Given the description of an element on the screen output the (x, y) to click on. 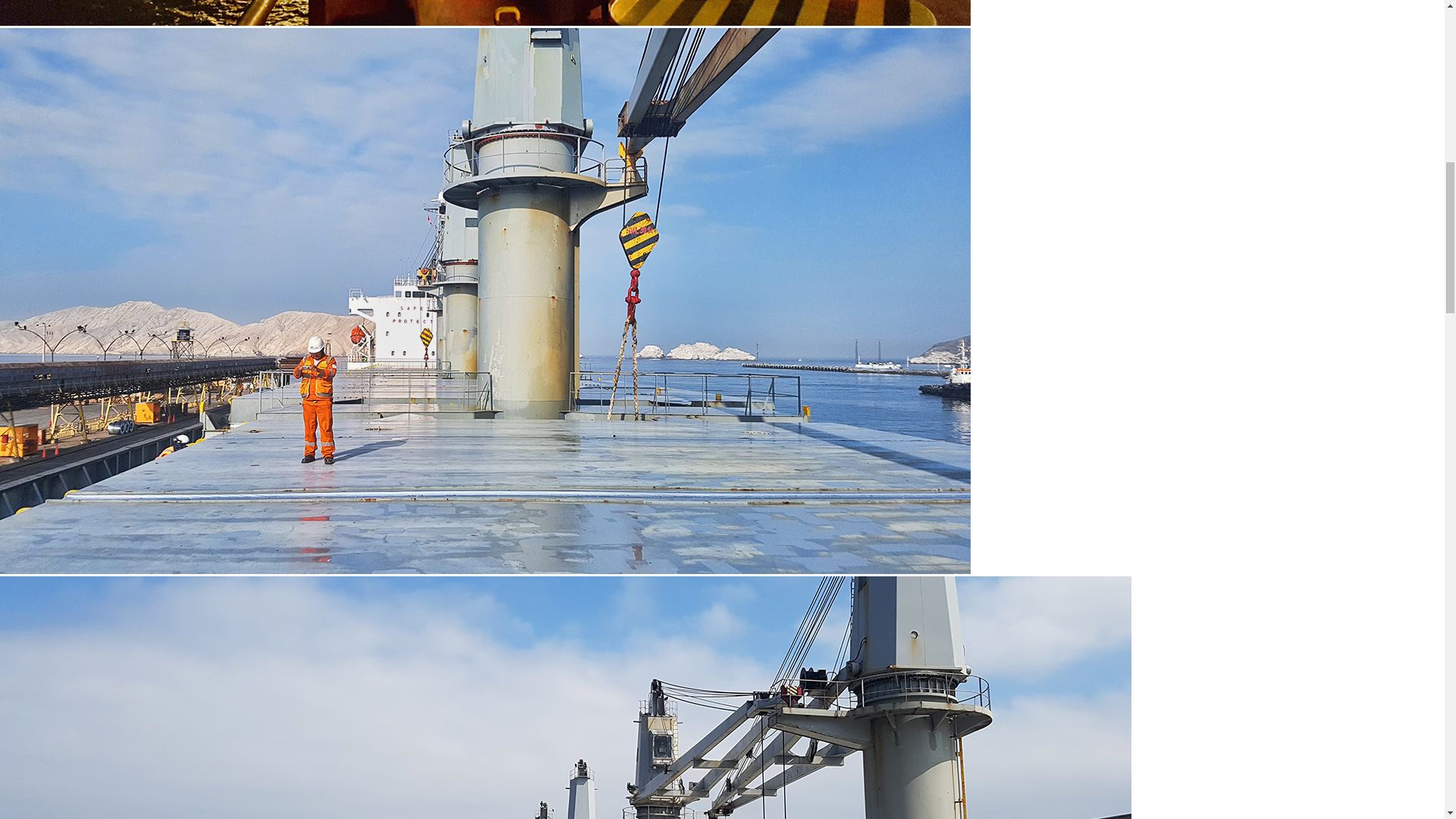
5 (485, 12)
